Given the description of an element on the screen output the (x, y) to click on. 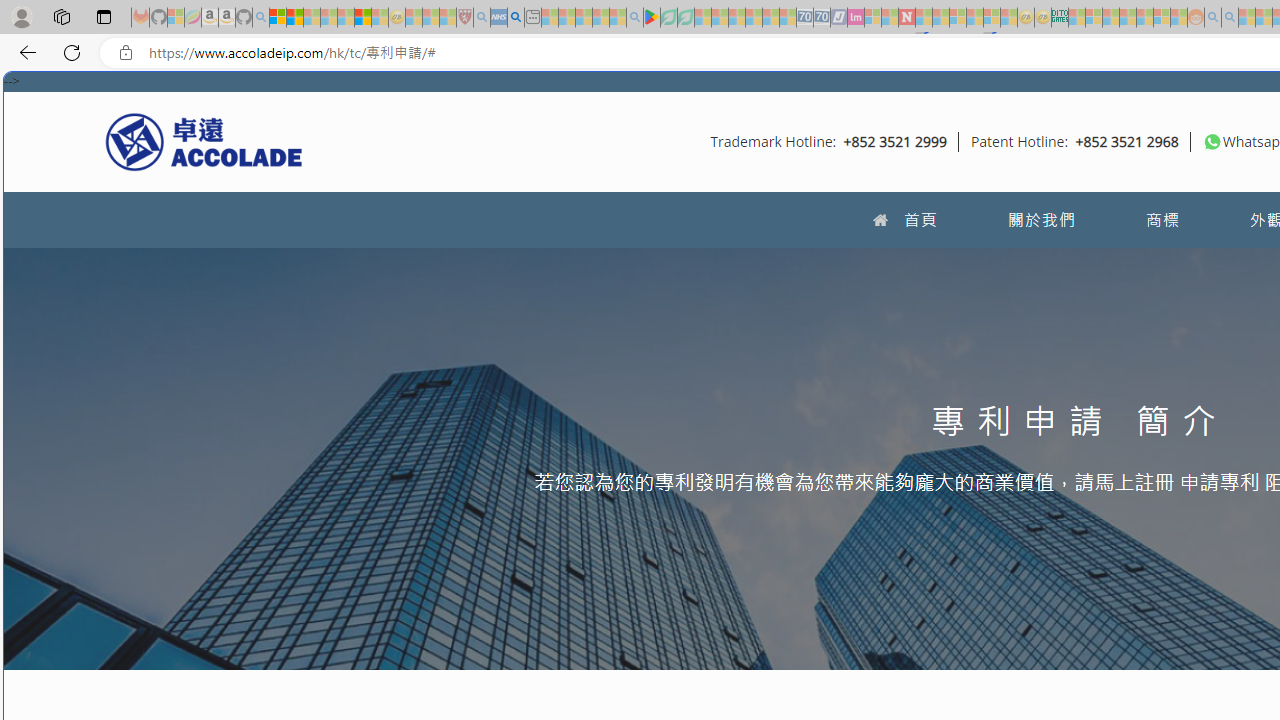
Accolade IP HK Logo (203, 141)
utah sues federal government - Search (515, 17)
